Given the description of an element on the screen output the (x, y) to click on. 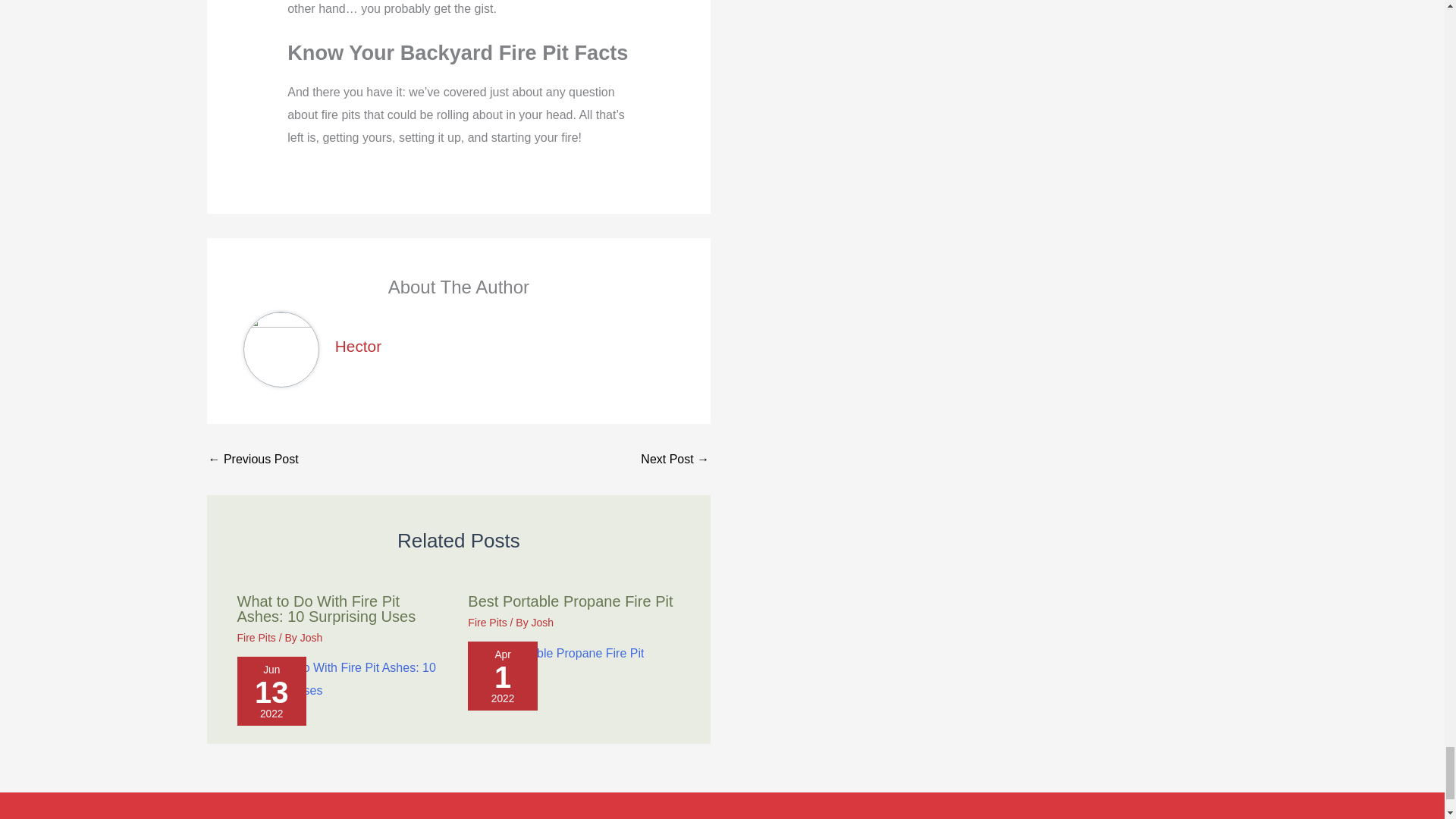
Best Cast Iron Fire Pits (674, 459)
View all posts by Josh (311, 637)
Porch Swing Hardware Guide (253, 459)
View all posts by Josh (542, 622)
